Given the description of an element on the screen output the (x, y) to click on. 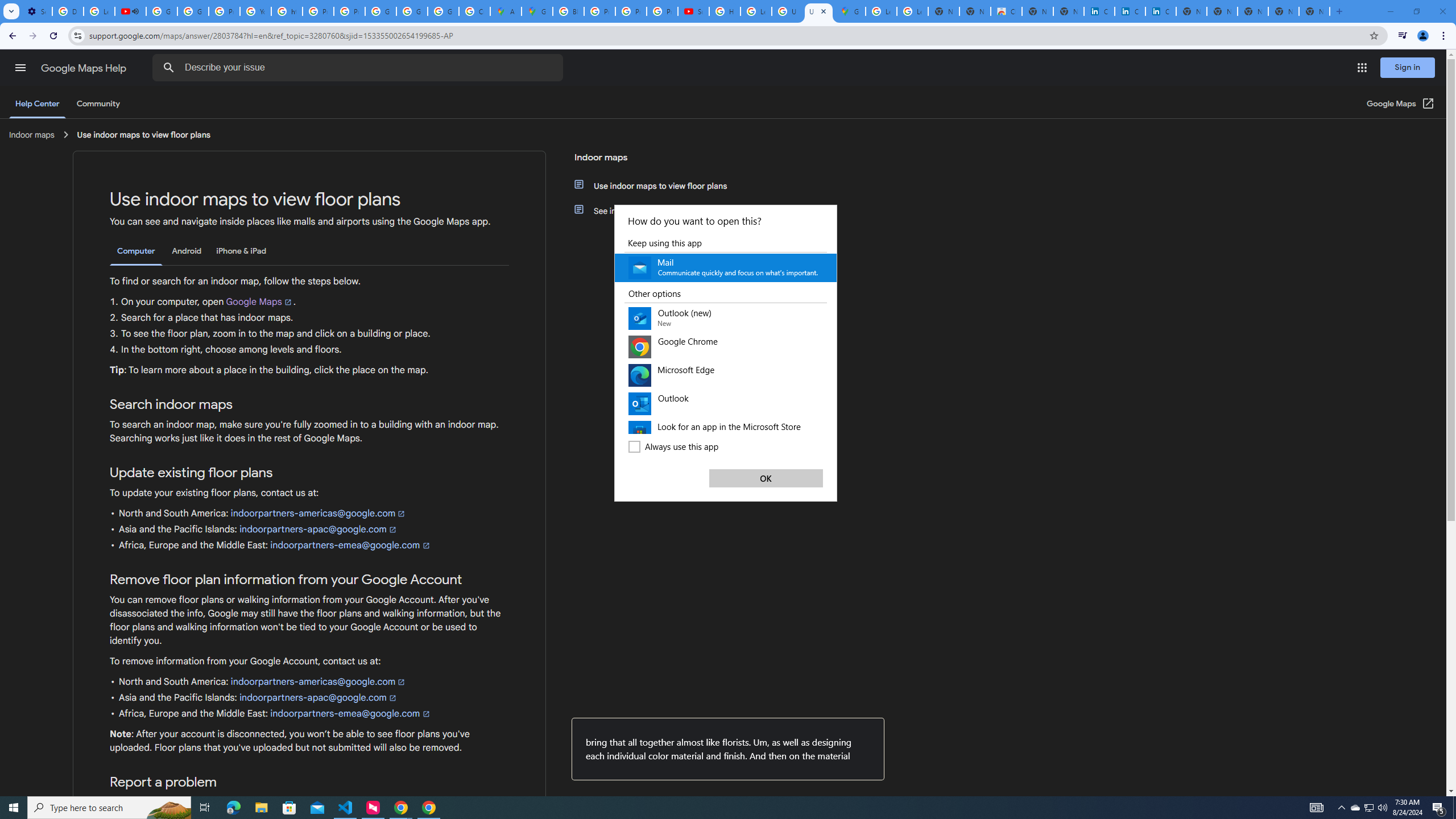
New Tab (1314, 11)
